Given the description of an element on the screen output the (x, y) to click on. 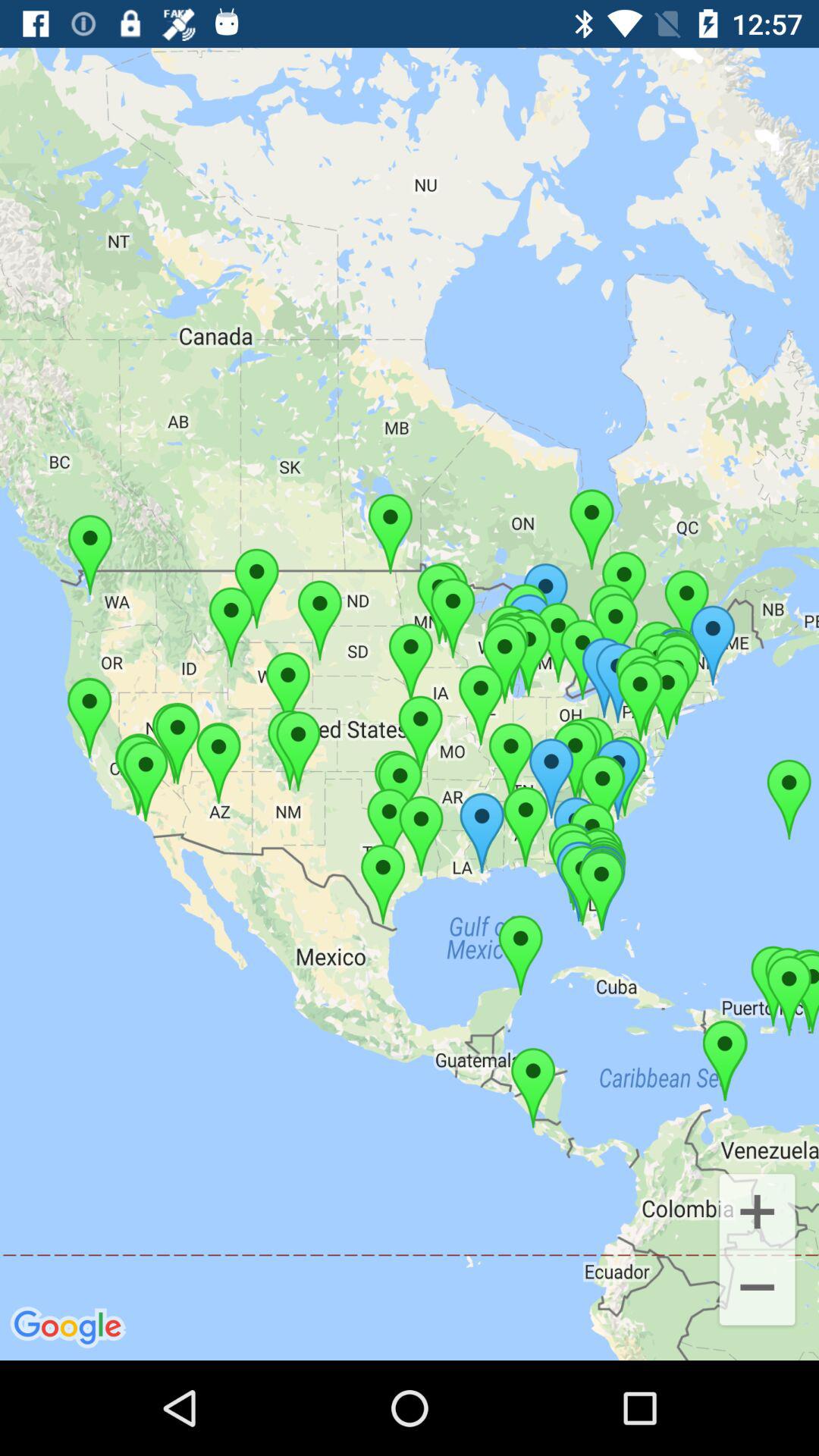
turn off the item at the center (409, 703)
